Given the description of an element on the screen output the (x, y) to click on. 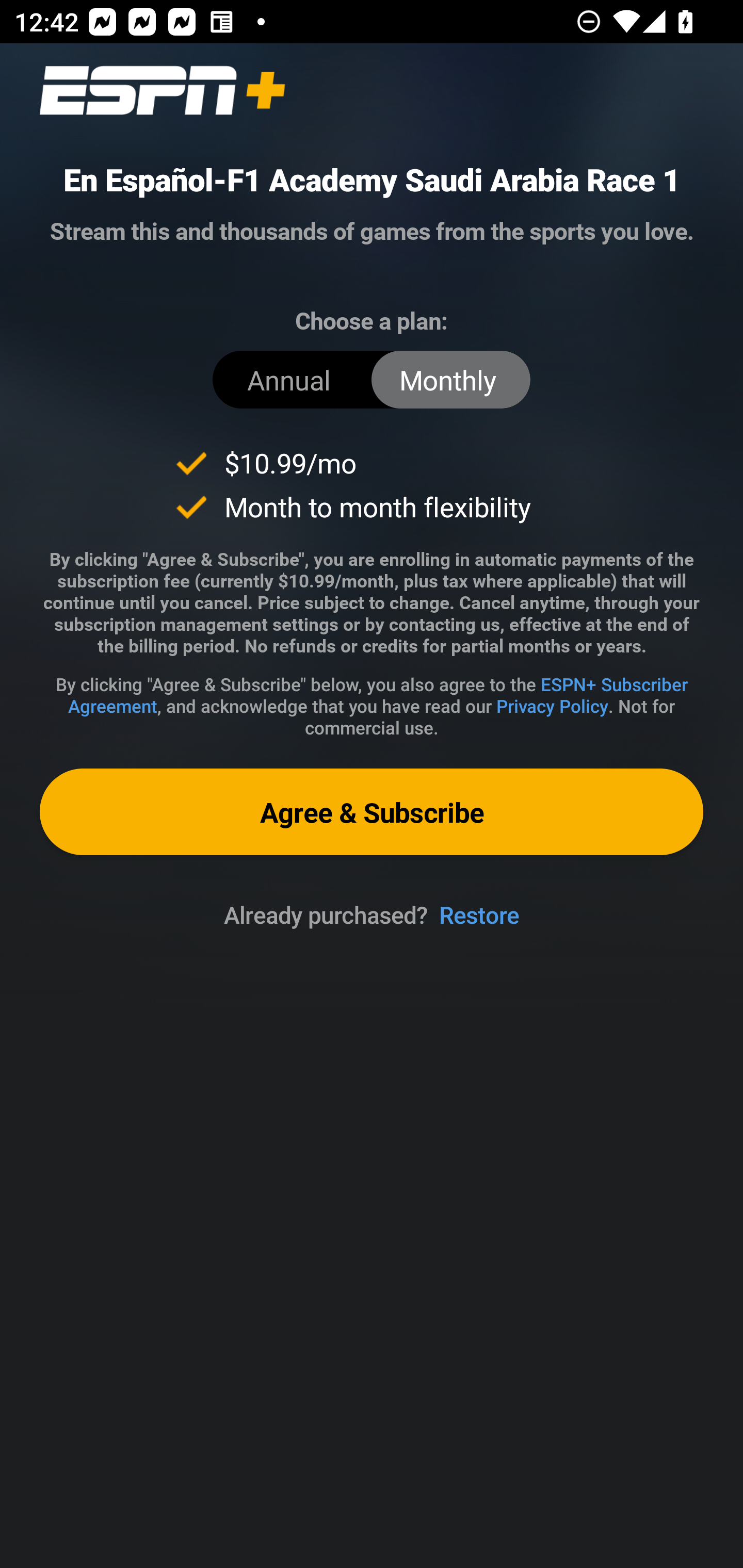
Agree & Subscribe (371, 811)
